Given the description of an element on the screen output the (x, y) to click on. 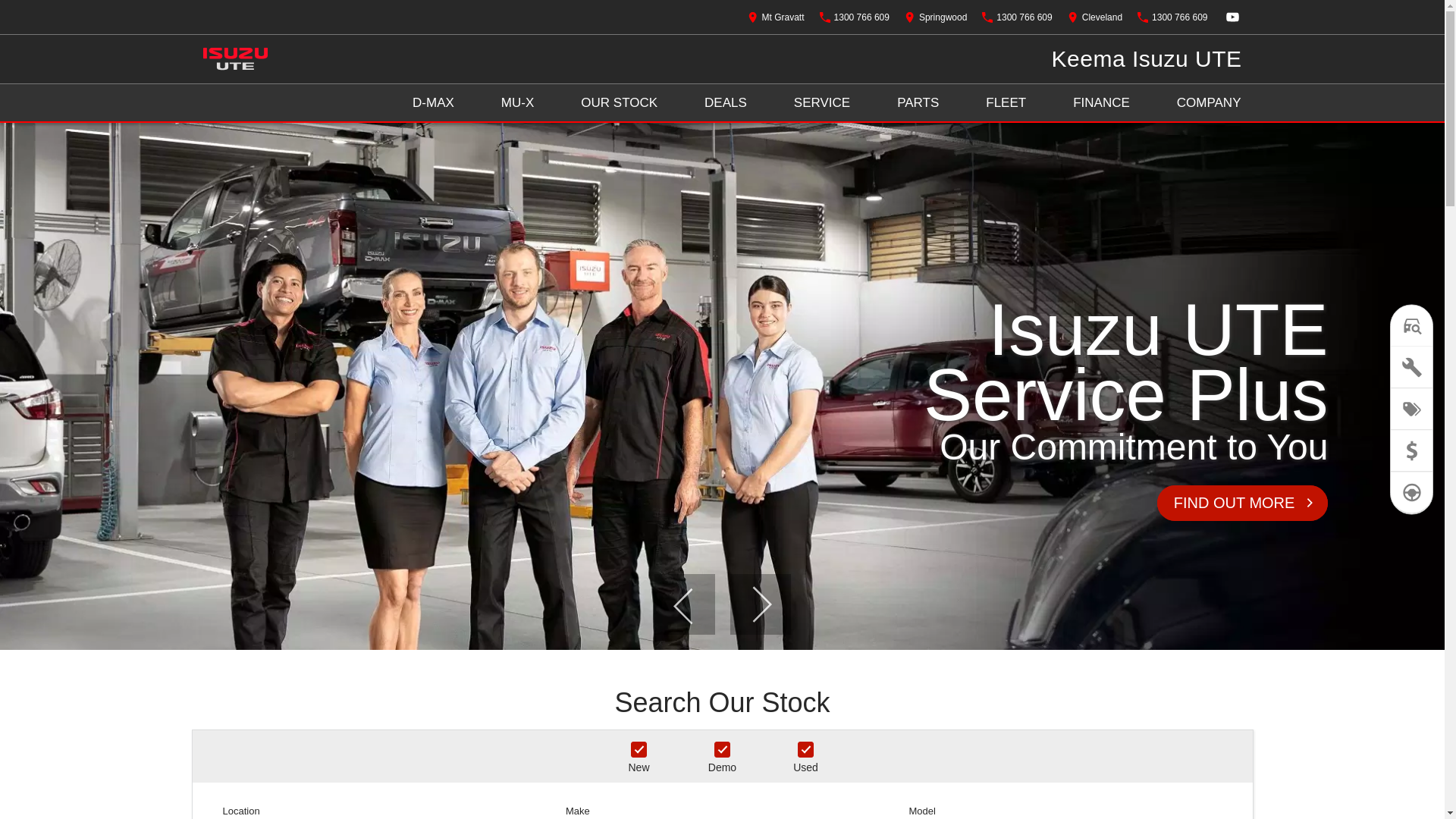
MU-X Element type: text (517, 102)
1300 766 609 Element type: text (1016, 16)
Mt Gravatt Element type: text (775, 16)
FLEET Element type: text (1005, 102)
Keema Isuzu UTE Element type: text (1146, 59)
Springwood Element type: text (935, 16)
Previous Element type: text (683, 604)
1300 766 609 Element type: text (1172, 16)
COMPANY Element type: text (1208, 102)
OUR STOCK Element type: text (618, 102)
PARTS Element type: text (917, 102)
DEALS Element type: text (725, 102)
Cleveland Element type: text (1094, 16)
D-MAX Element type: text (433, 102)
FINANCE Element type: text (1101, 102)
Next Element type: text (759, 604)
1300 766 609 Element type: text (854, 16)
Live Your Own Way
DISCOVER MU-X Element type: text (722, 385)
SERVICE Element type: text (821, 102)
